Given the description of an element on the screen output the (x, y) to click on. 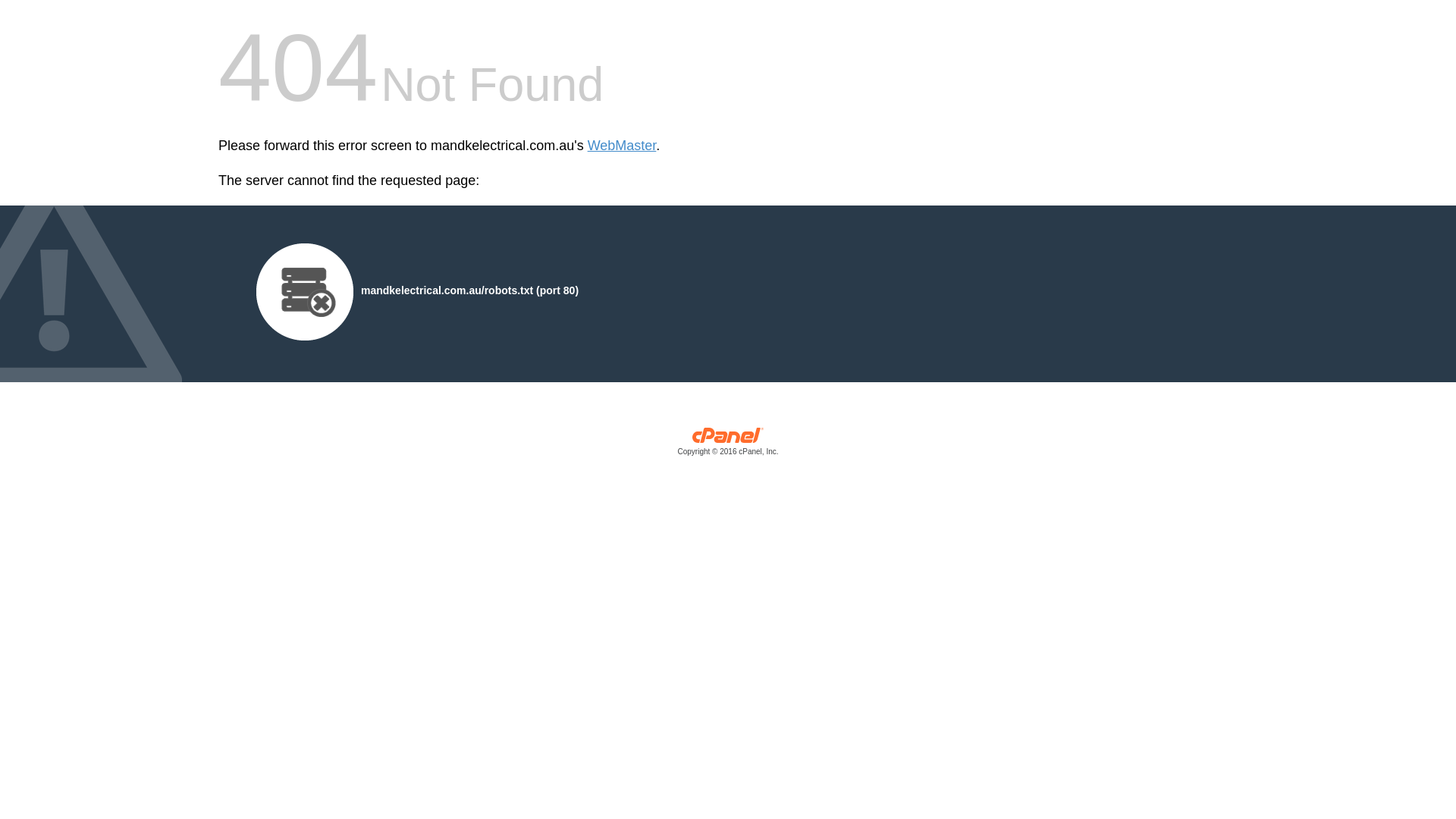
WebMaster Element type: text (621, 145)
